Given the description of an element on the screen output the (x, y) to click on. 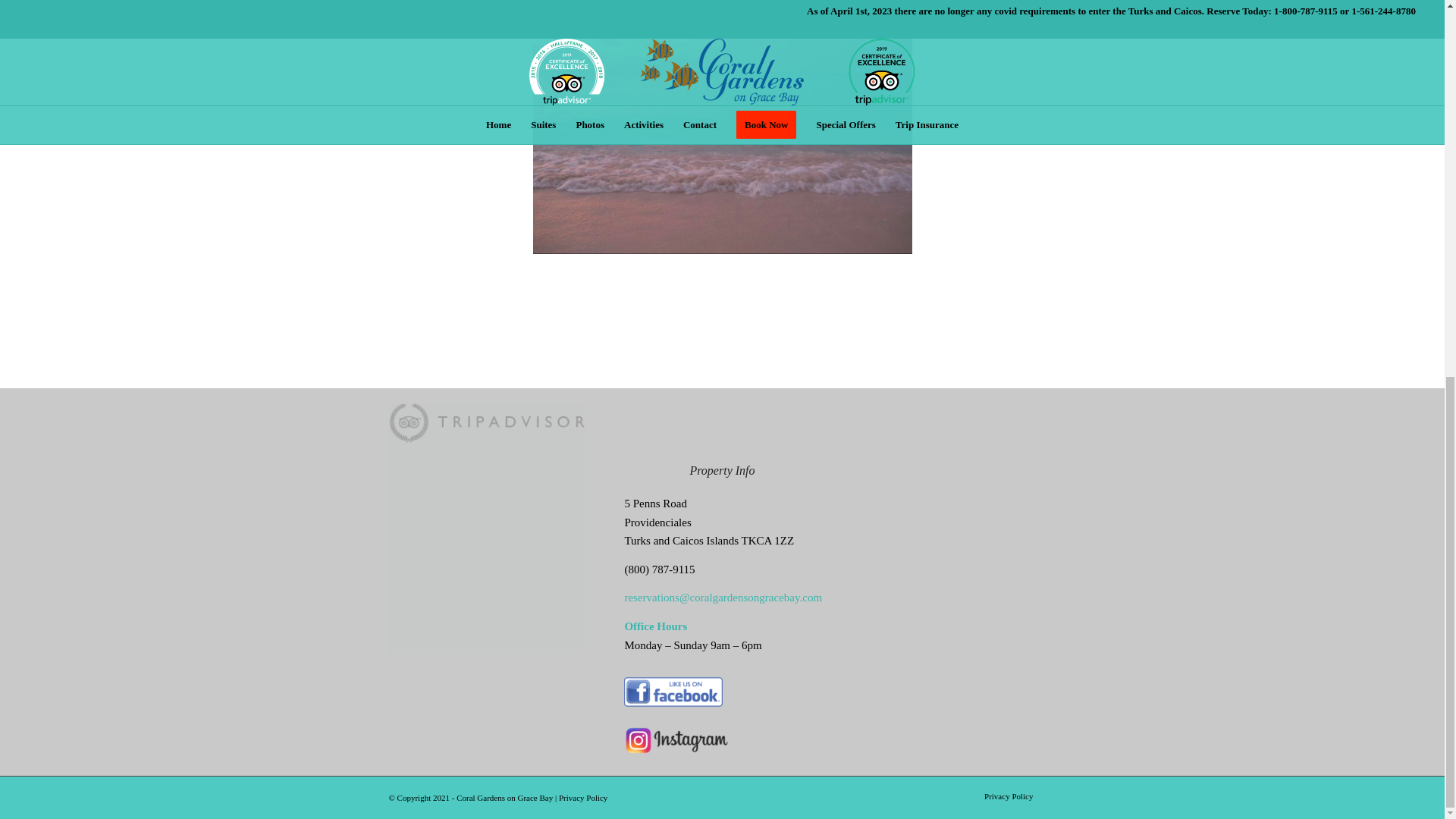
Privacy Policy (1008, 795)
Trip Advisor Logo (485, 423)
Privacy Policy (583, 797)
